Given the description of an element on the screen output the (x, y) to click on. 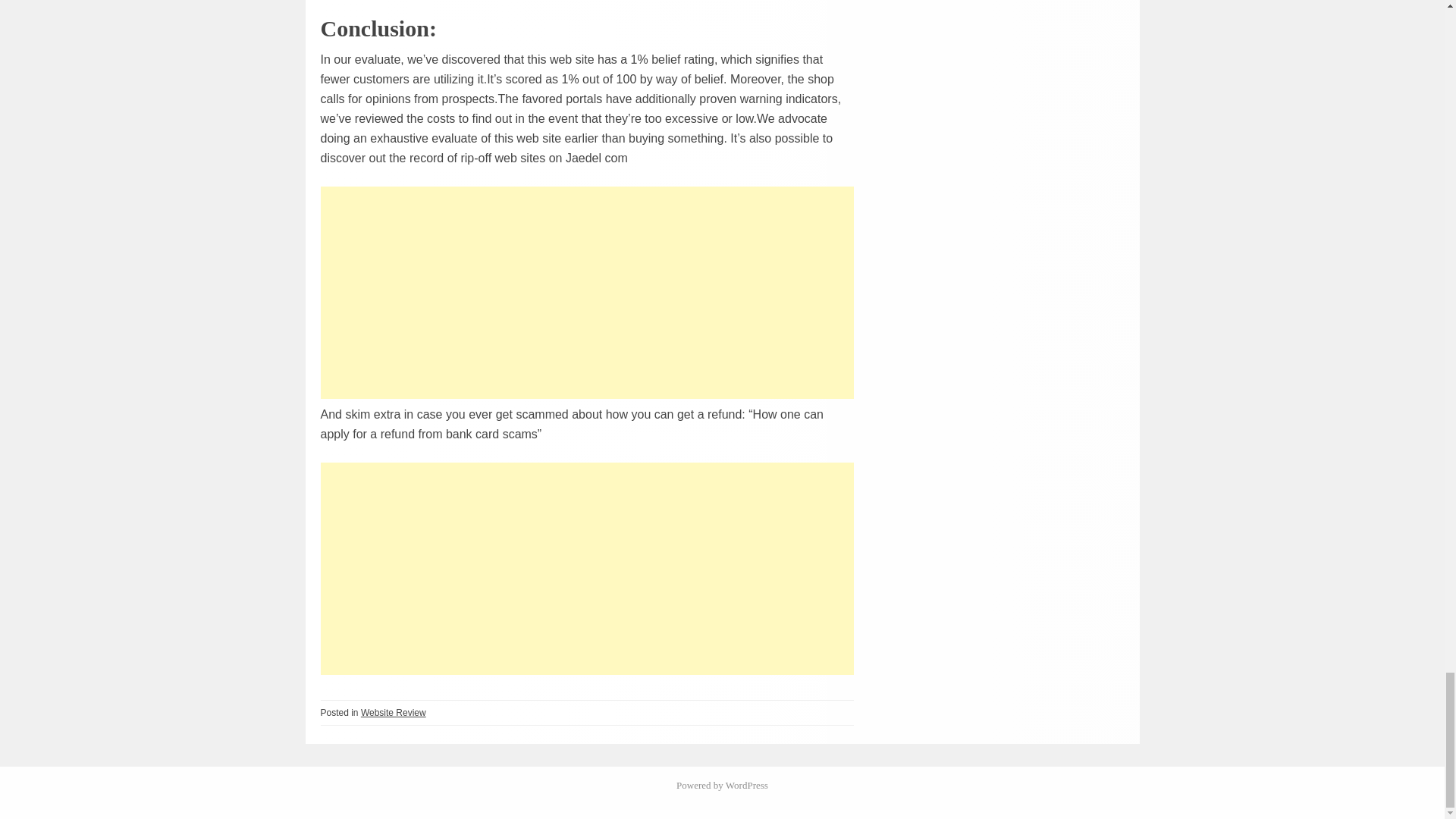
Website Review (393, 712)
